Given the description of an element on the screen output the (x, y) to click on. 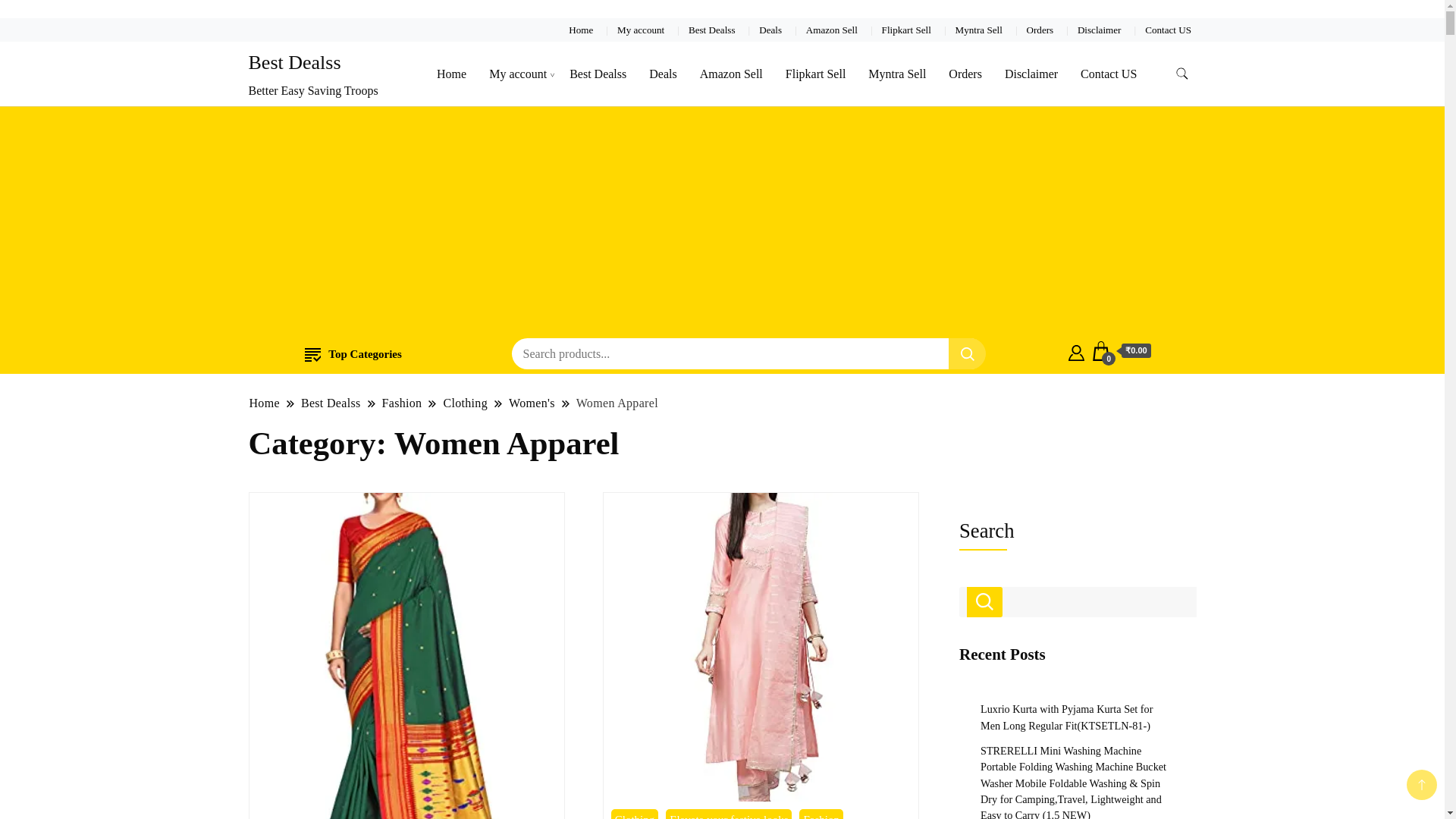
Cart (1120, 350)
My Account (1076, 350)
Orders (1040, 30)
Deals (769, 30)
Flipkart Sell (816, 74)
Flipkart Sell (906, 30)
Home (580, 30)
Myntra Sell (897, 74)
My account (640, 30)
Myntra Sell (979, 30)
